Given the description of an element on the screen output the (x, y) to click on. 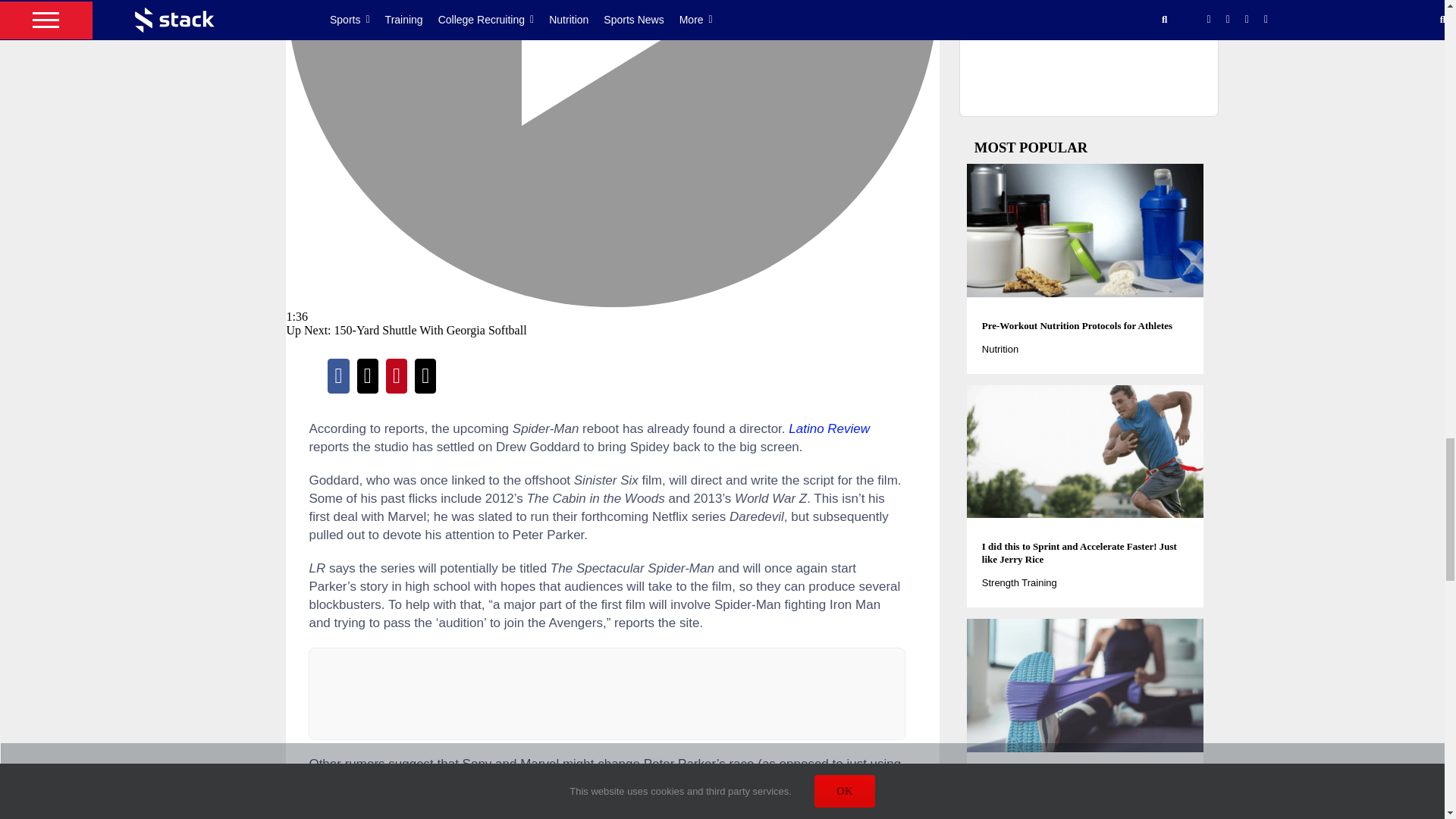
3rd party ad content (607, 694)
